Given the description of an element on the screen output the (x, y) to click on. 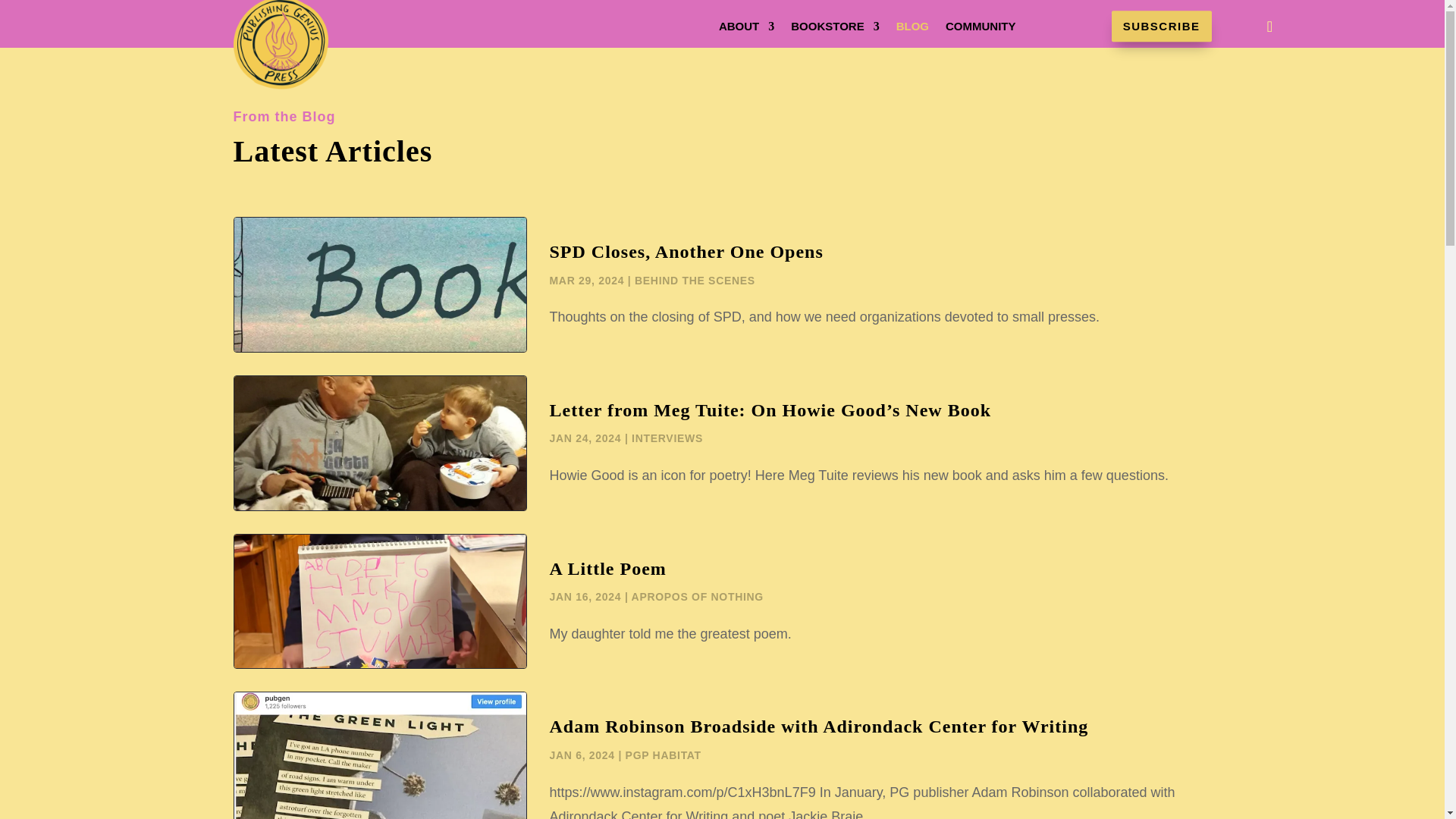
BOOKSTORE (834, 29)
BLOG (912, 29)
Follow on Instagram (1268, 25)
PG Logo Draft (280, 45)
COMMUNITY (980, 29)
ABOUT (746, 29)
